Given the description of an element on the screen output the (x, y) to click on. 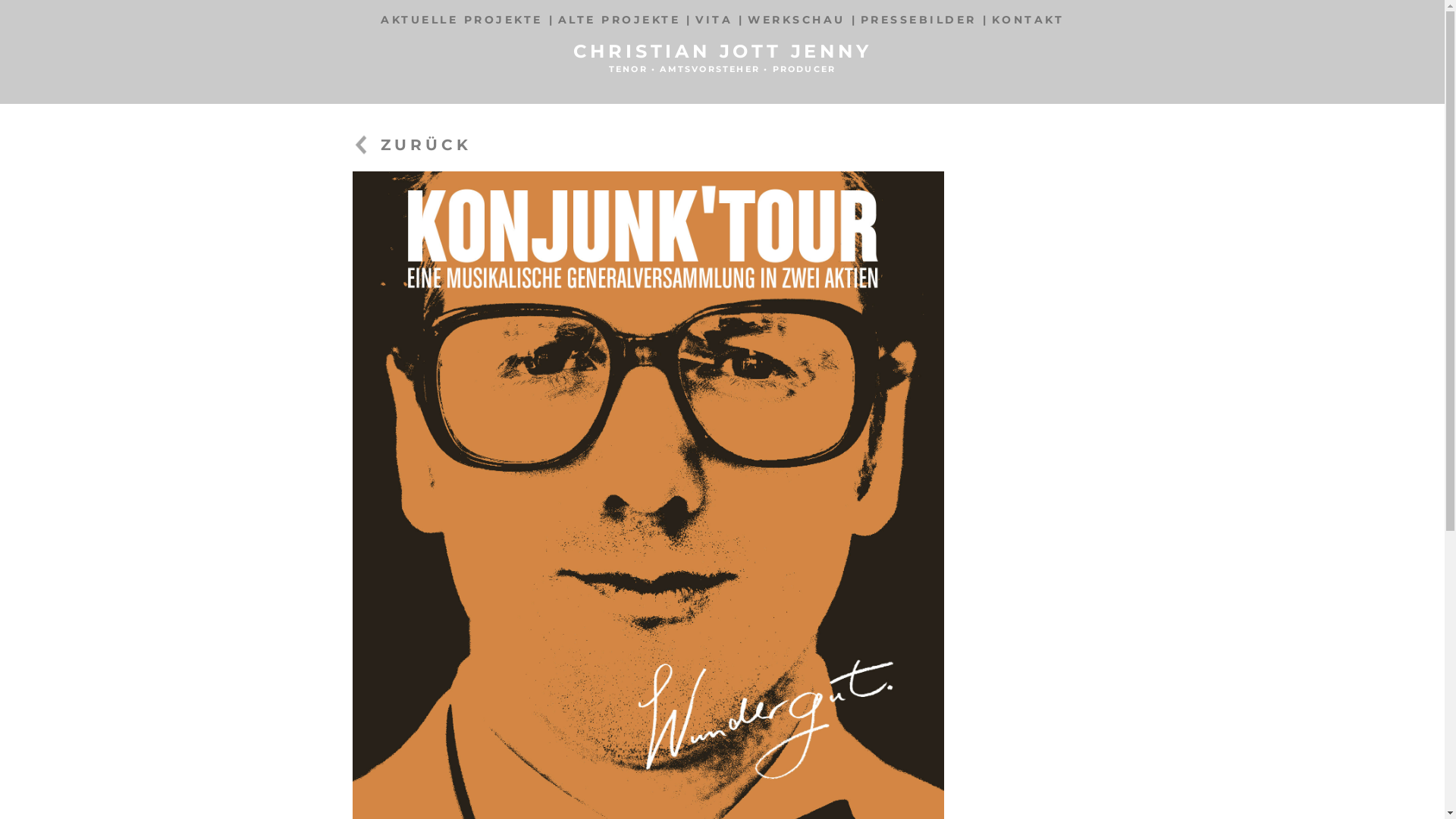
VITA Element type: text (713, 19)
ALTE PROJEKTE Element type: text (619, 19)
KONTAKT Element type: text (1027, 19)
AKTUELLE PROJEKTE Element type: text (461, 19)
PRESSEBILDER Element type: text (917, 19)
WERKSCHAU Element type: text (796, 19)
